Given the description of an element on the screen output the (x, y) to click on. 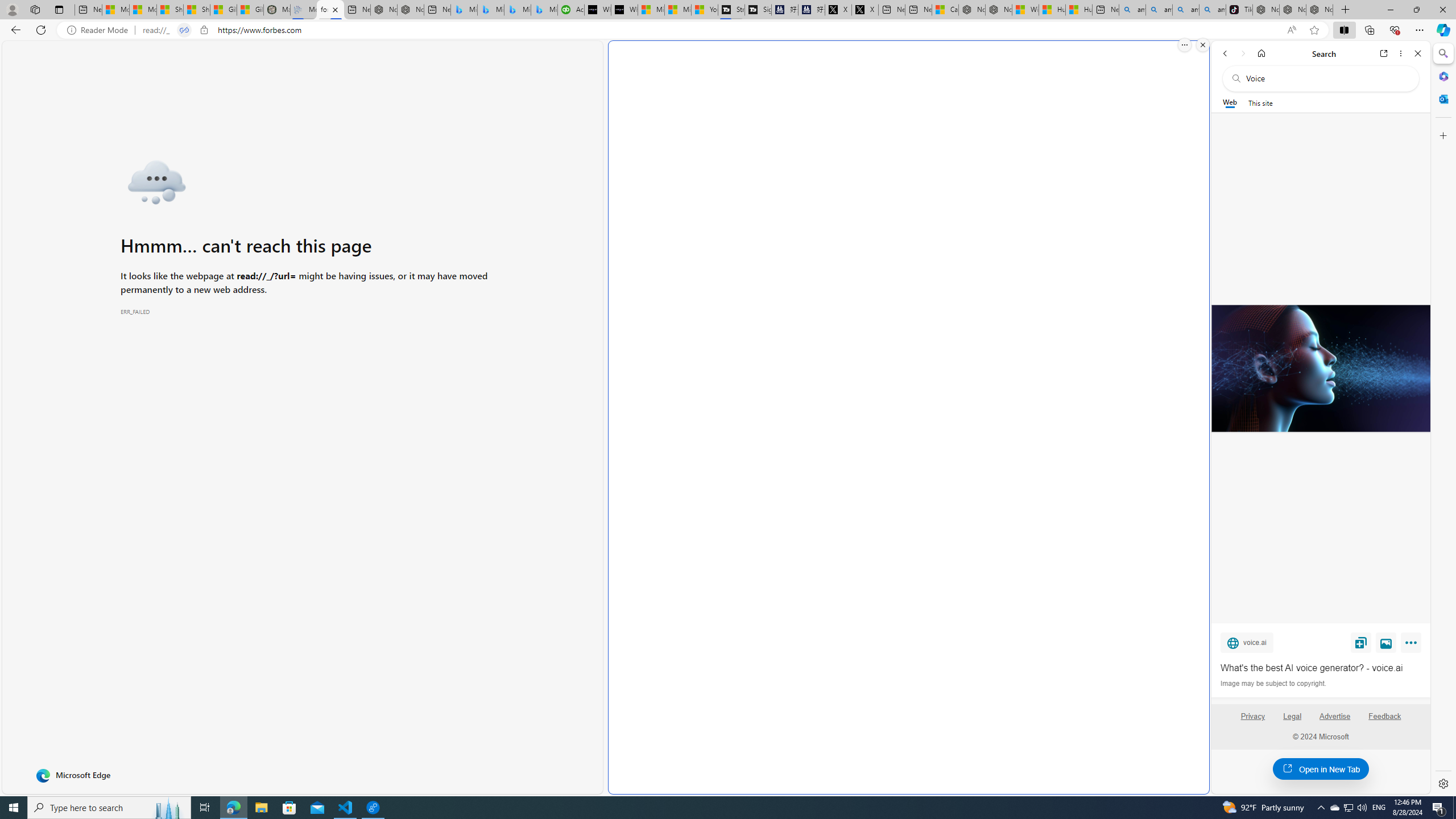
Microsoft Start Sports (651, 9)
More options. (1183, 45)
Feedback (1384, 715)
Nordace - Best Sellers (1265, 9)
amazon - Search Images (1211, 9)
TikTok (1239, 9)
View image (1385, 642)
Manatee Mortality Statistics | FWC (277, 9)
Reader Mode (100, 29)
Shanghai, China weather forecast | Microsoft Weather (197, 9)
